Given the description of an element on the screen output the (x, y) to click on. 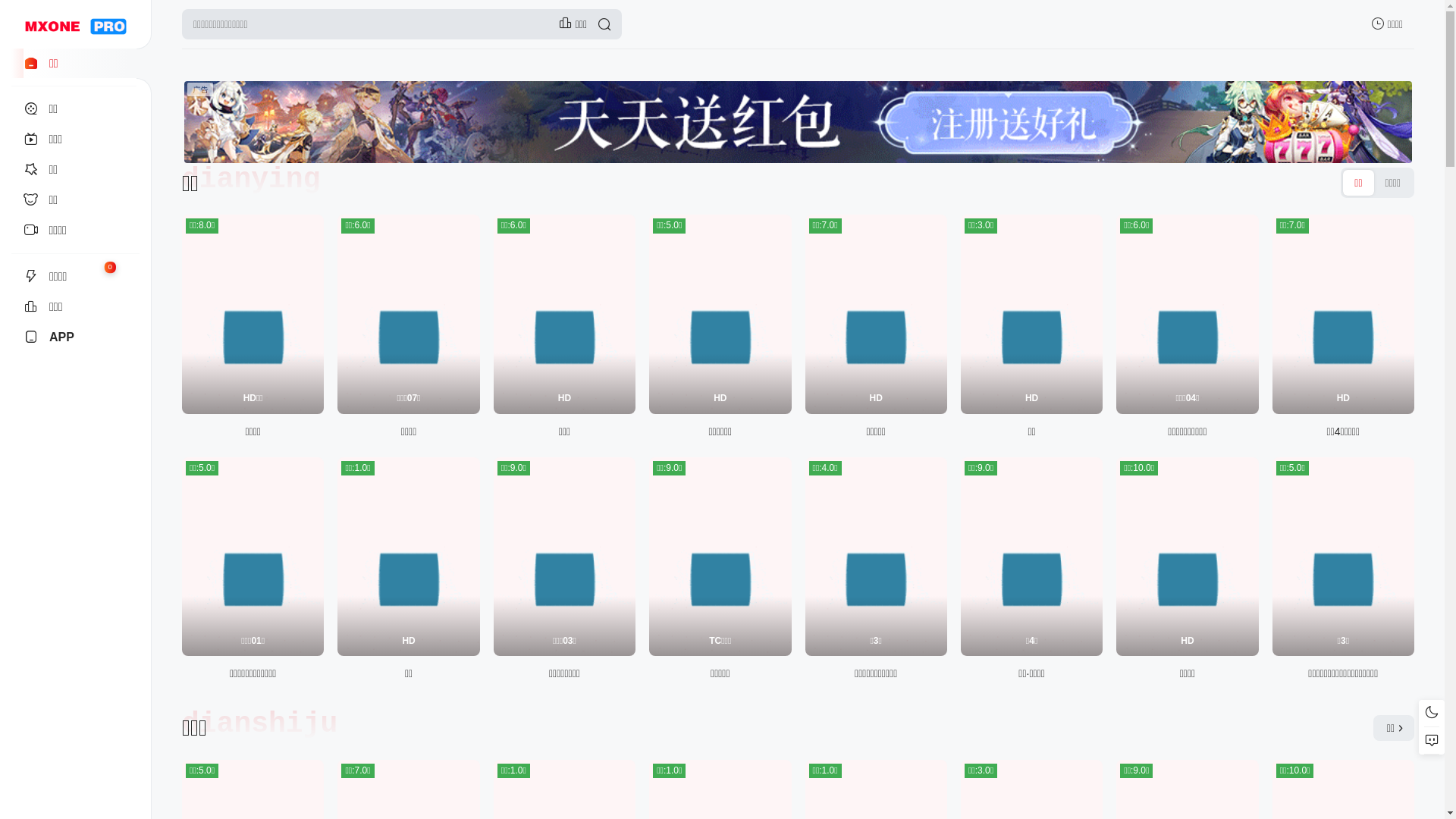
APP Element type: text (75, 337)
